Given the description of an element on the screen output the (x, y) to click on. 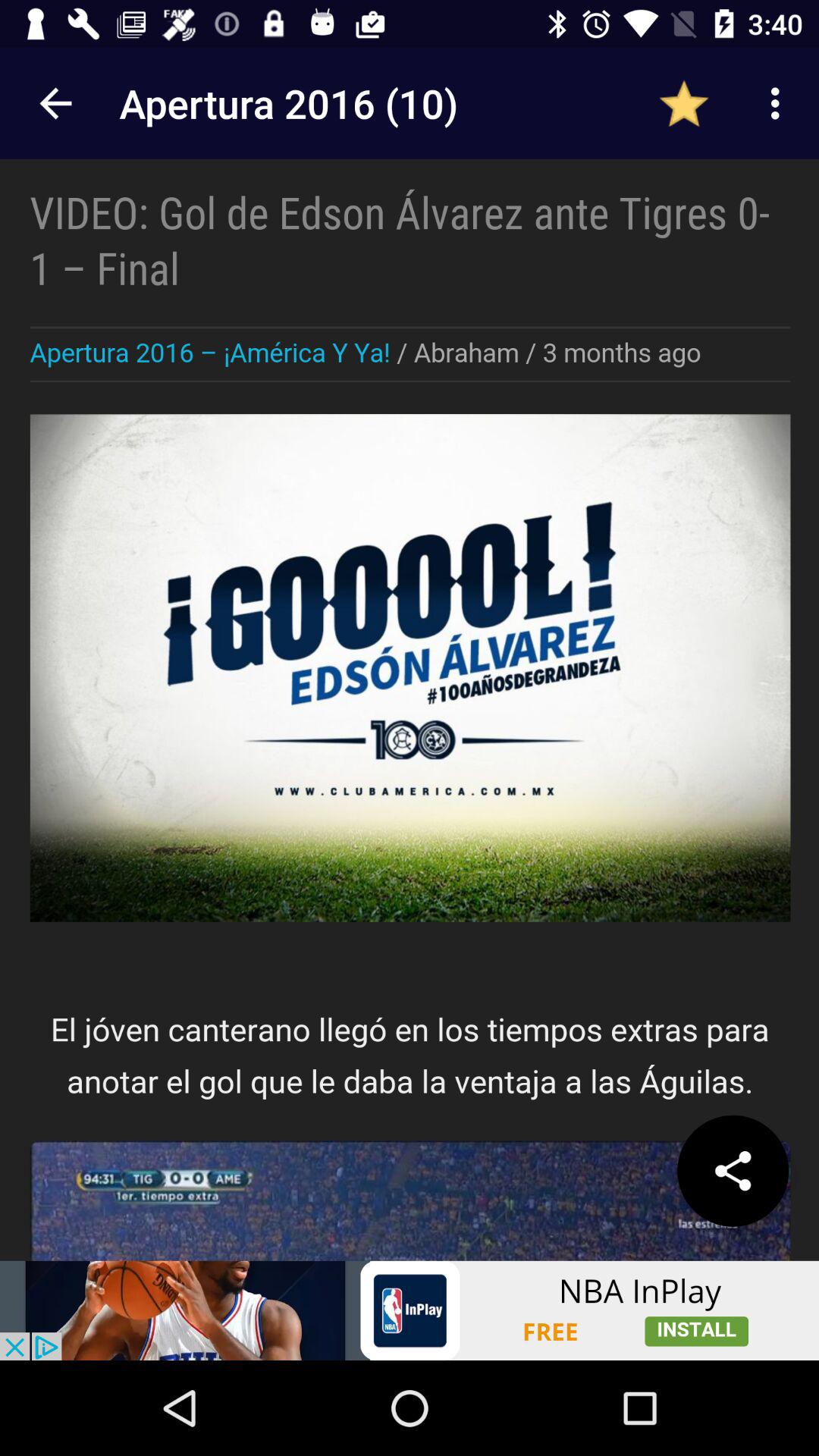
share the option (733, 1171)
